Given the description of an element on the screen output the (x, y) to click on. 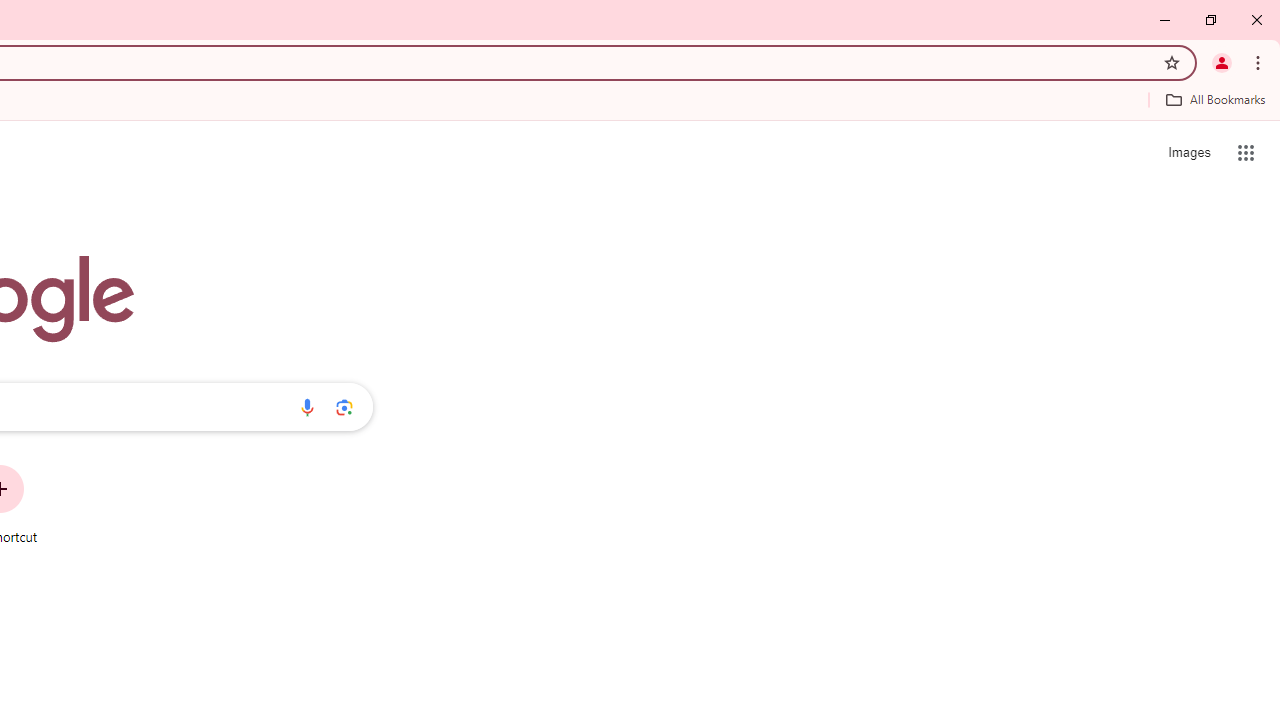
Search for Images  (1188, 152)
Search by image (344, 407)
All Bookmarks (1215, 99)
Search by voice (307, 407)
